Given the description of an element on the screen output the (x, y) to click on. 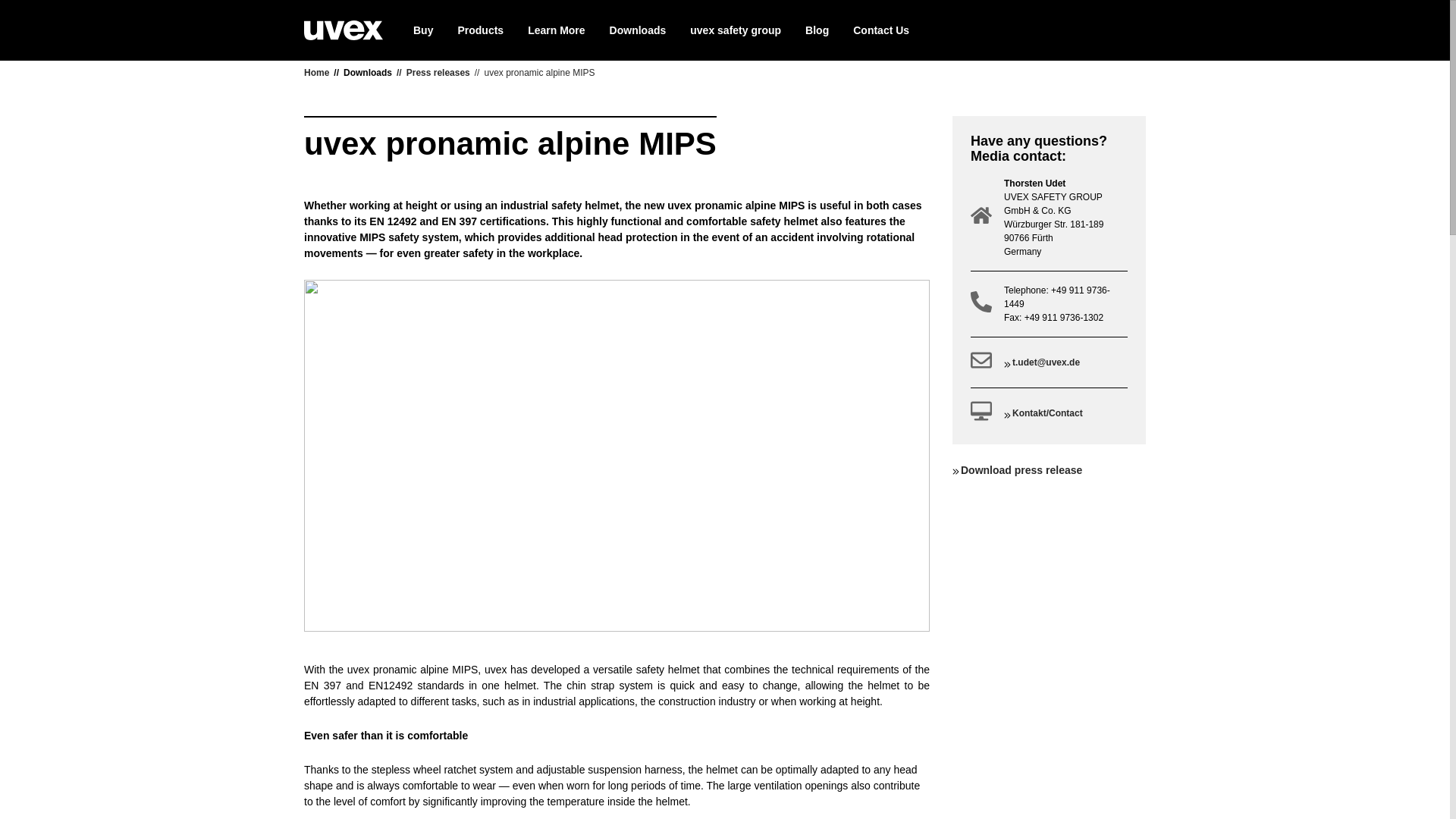
Show language menu (1124, 30)
Toggle search (1088, 30)
uvex logo (343, 30)
